Given the description of an element on the screen output the (x, y) to click on. 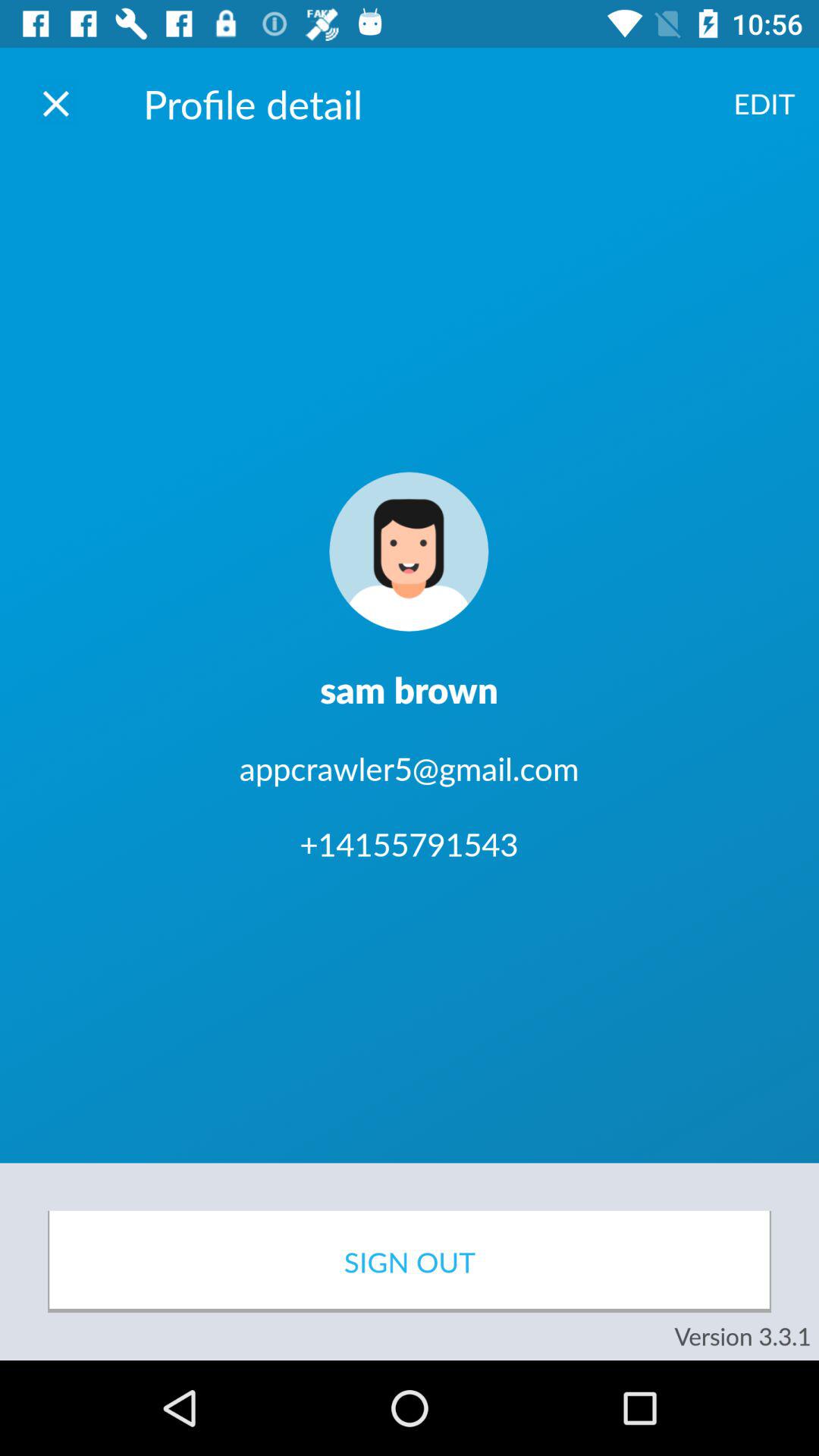
open the item next to the profile detail icon (764, 103)
